Given the description of an element on the screen output the (x, y) to click on. 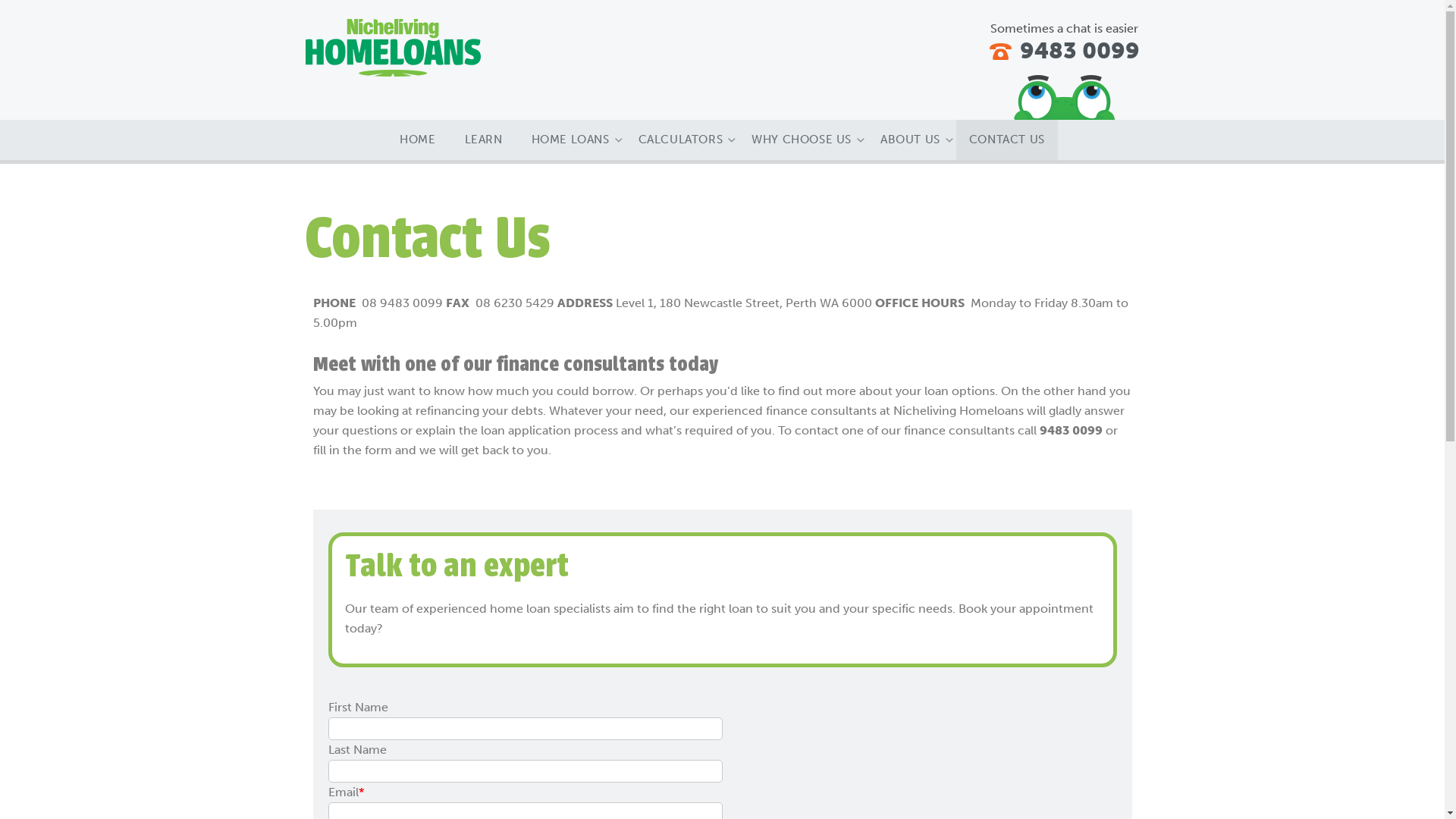
ABOUT US Element type: text (910, 139)
Niche Living Home Loans Element type: text (392, 47)
WHY CHOOSE US Element type: text (801, 139)
LEARN Element type: text (483, 139)
9483 0099 Element type: text (1063, 50)
CONTACT US Element type: text (1006, 139)
HOME Element type: text (417, 139)
HOME LOANS Element type: text (570, 139)
CALCULATORS Element type: text (680, 139)
